Given the description of an element on the screen output the (x, y) to click on. 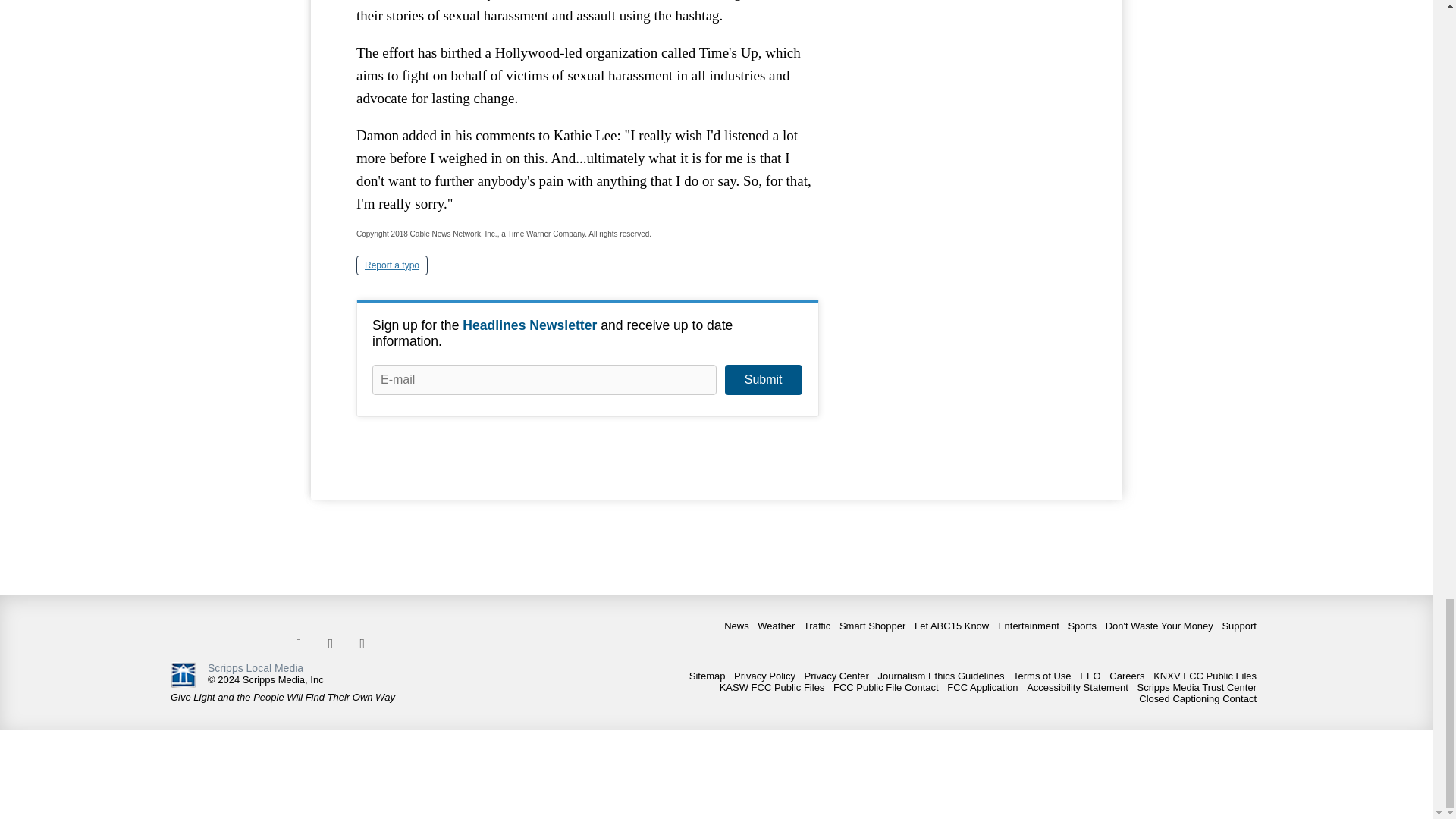
Submit (763, 379)
